Given the description of an element on the screen output the (x, y) to click on. 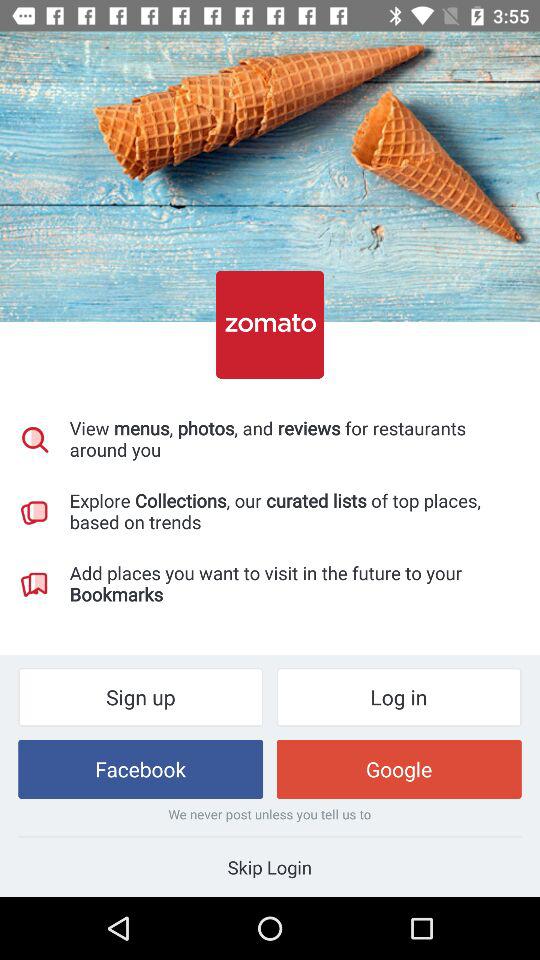
tap icon above we never post item (398, 768)
